Given the description of an element on the screen output the (x, y) to click on. 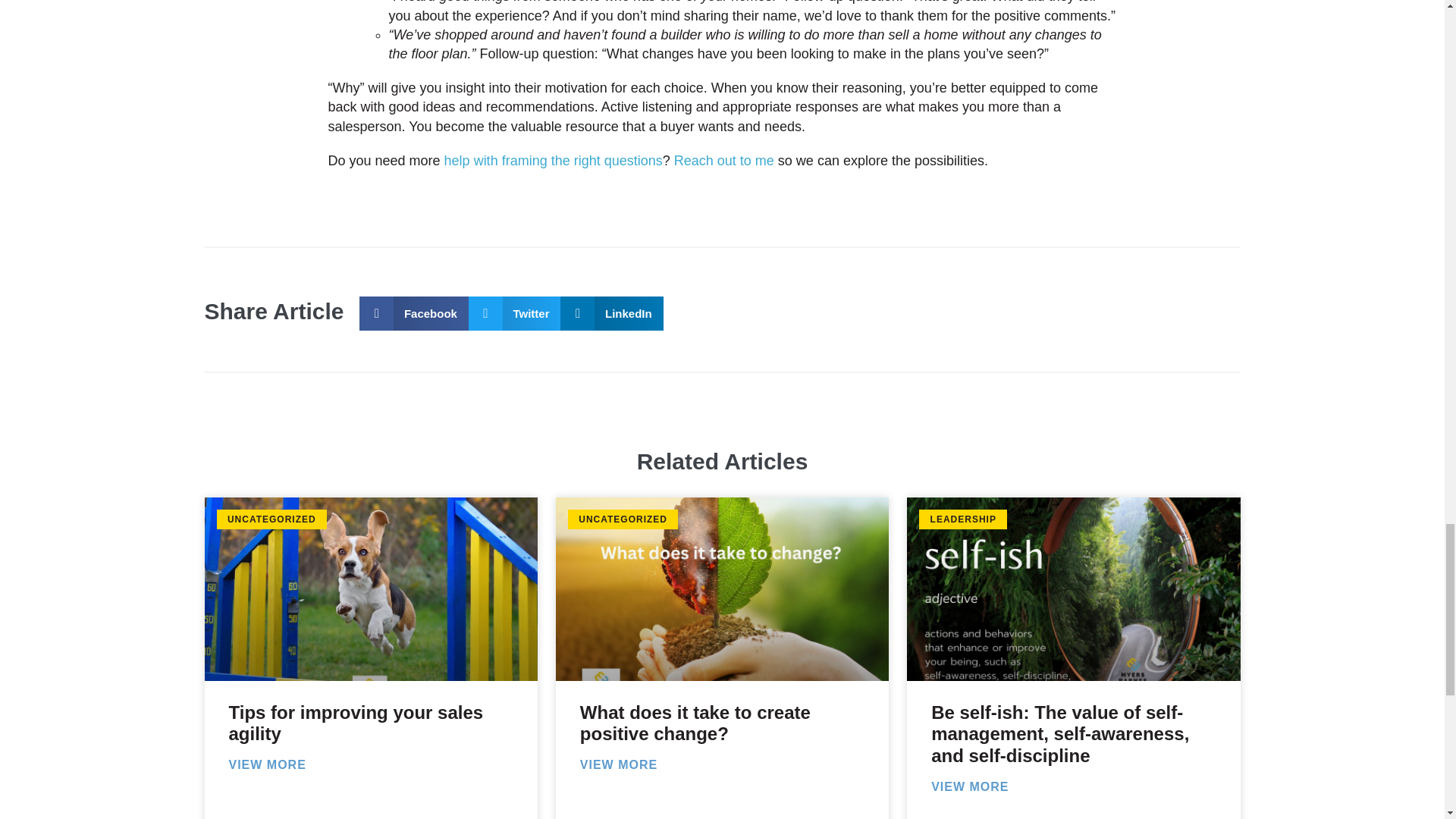
What does it take to create positive change? (694, 722)
VIEW MORE (266, 764)
help with framing the right questions (553, 160)
Reach out to me (724, 160)
Tips for improving your sales agility (355, 722)
